Given the description of an element on the screen output the (x, y) to click on. 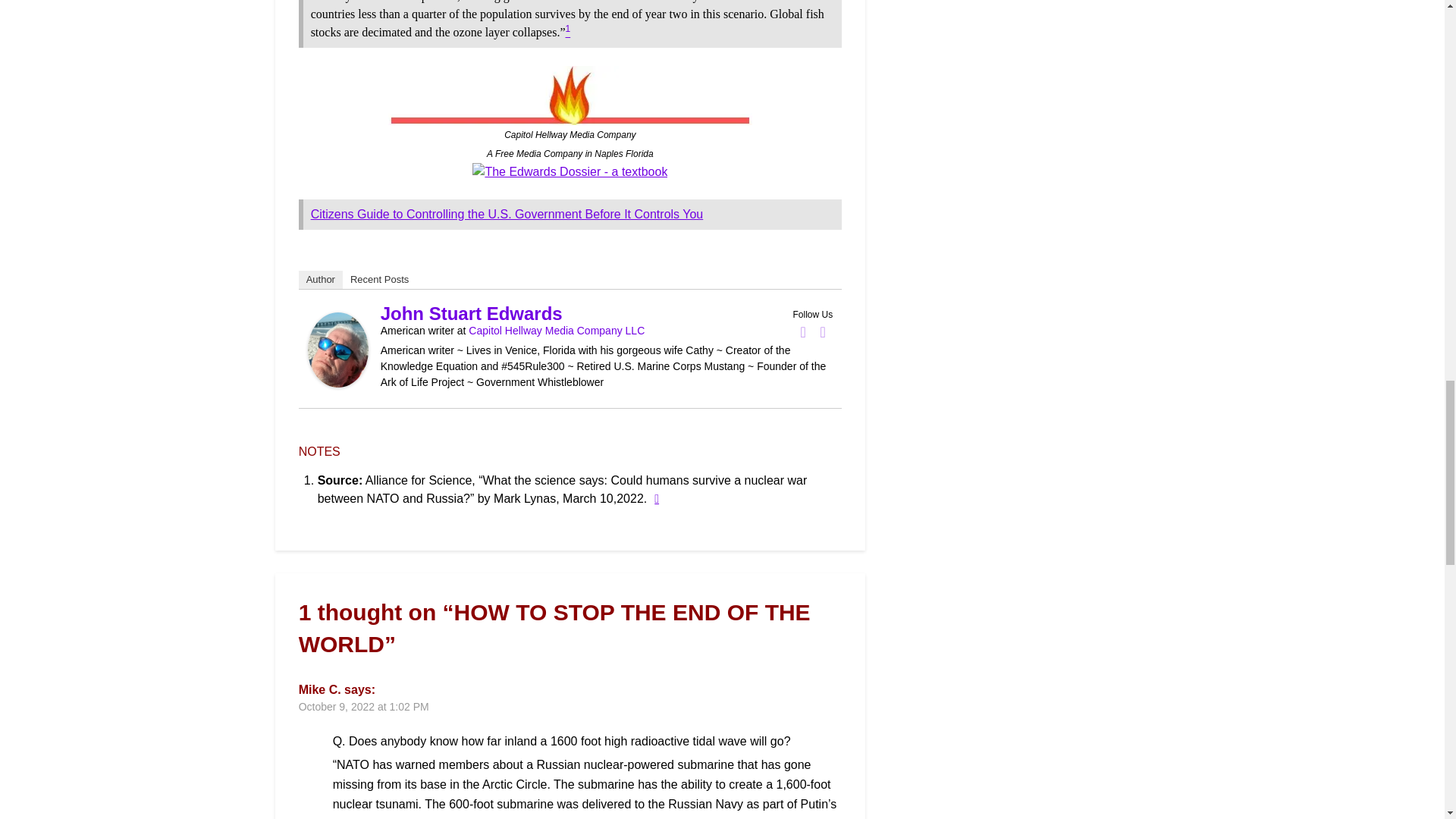
John Stuart Edwards (337, 382)
Twitter (822, 331)
Facebook (802, 331)
